Given the description of an element on the screen output the (x, y) to click on. 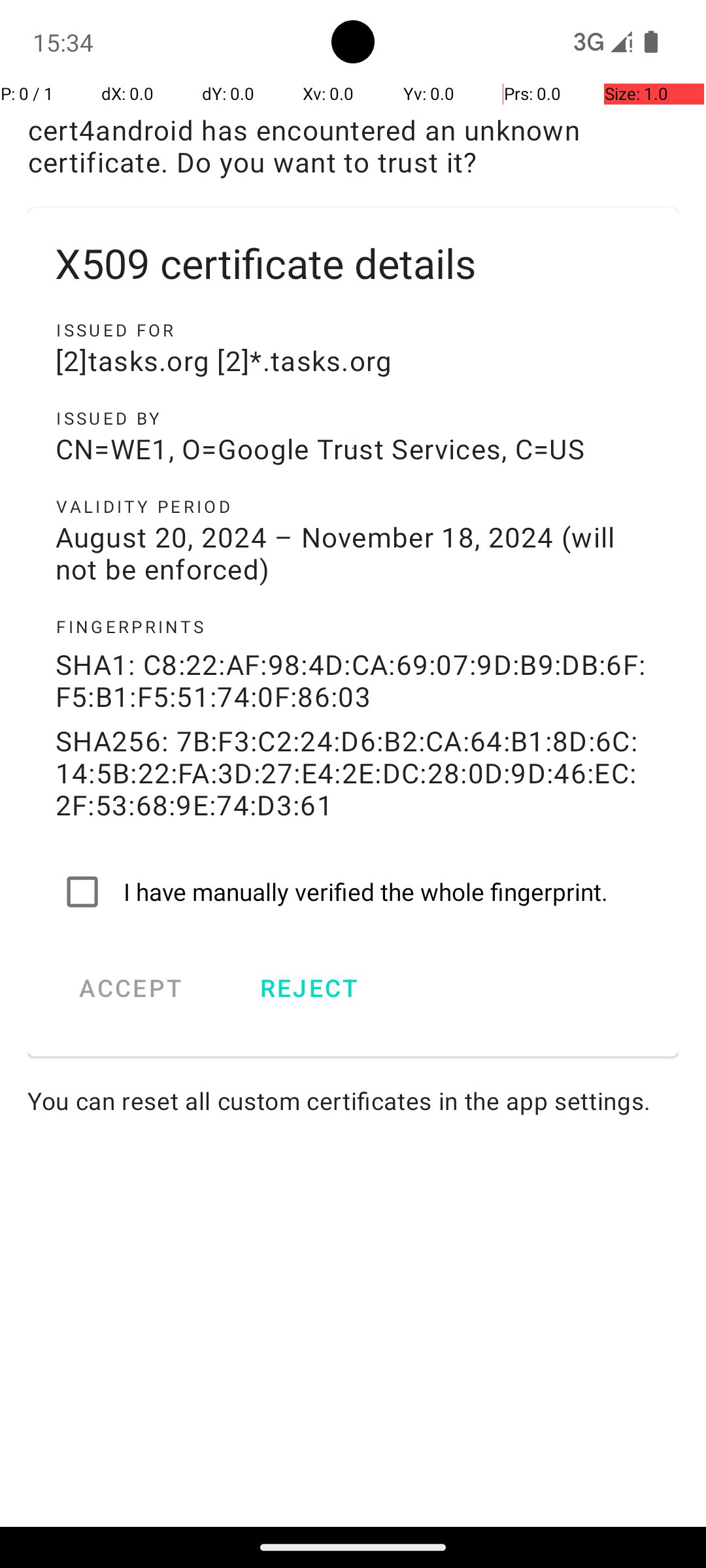
cert4android has encountered an unknown certificate. Do you want to trust it? Element type: android.widget.TextView (352, 145)
X509 certificate details Element type: android.widget.TextView (352, 262)
ISSUED FOR Element type: android.widget.TextView (352, 329)
[2]tasks.org [2]*.tasks.org  Element type: android.widget.TextView (352, 359)
ISSUED BY Element type: android.widget.TextView (352, 417)
CN=WE1, O=Google Trust Services, C=US Element type: android.widget.TextView (352, 448)
VALIDITY PERIOD Element type: android.widget.TextView (352, 506)
August 20, 2024 – November 18, 2024 (will not be enforced) Element type: android.widget.TextView (352, 552)
FINGERPRINTS Element type: android.widget.TextView (352, 626)
SHA1: C8:22:AF:98:4D:CA:69:07:9D:B9:DB:6F:F5:B1:F5:51:74:0F:86:03 Element type: android.widget.TextView (352, 679)
SHA256: 7B:F3:C2:24:D6:B2:CA:64:B1:8D:6C:14:5B:22:FA:3D:27:E4:2E:DC:28:0D:9D:46:EC:2F:53:68:9E:74:D3:61 Element type: android.widget.TextView (352, 772)
I have manually verified the whole fingerprint. Element type: android.widget.CheckBox (352, 891)
ACCEPT Element type: android.widget.Button (129, 987)
REJECT Element type: android.widget.Button (308, 987)
You can reset all custom certificates in the app settings. Element type: android.widget.TextView (352, 1100)
